Given the description of an element on the screen output the (x, y) to click on. 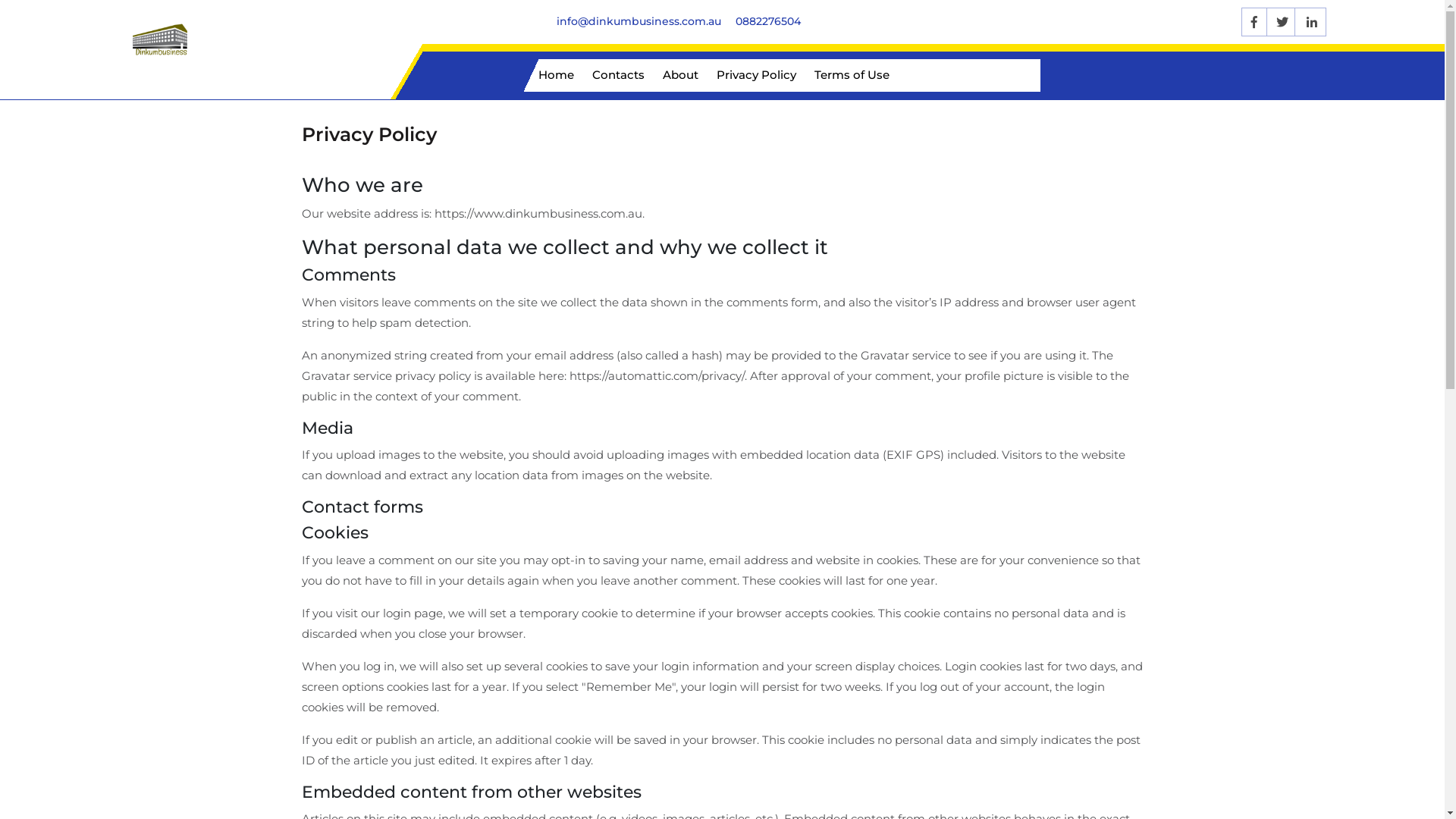
Contacts Element type: text (618, 75)
Terms of Use Element type: text (851, 75)
Twitter Element type: text (1282, 22)
Home Element type: text (552, 75)
About Element type: text (680, 75)
Privacy Policy Element type: text (756, 75)
Linkedin Element type: text (1311, 22)
Facebook Element type: text (1254, 22)
